Given the description of an element on the screen output the (x, y) to click on. 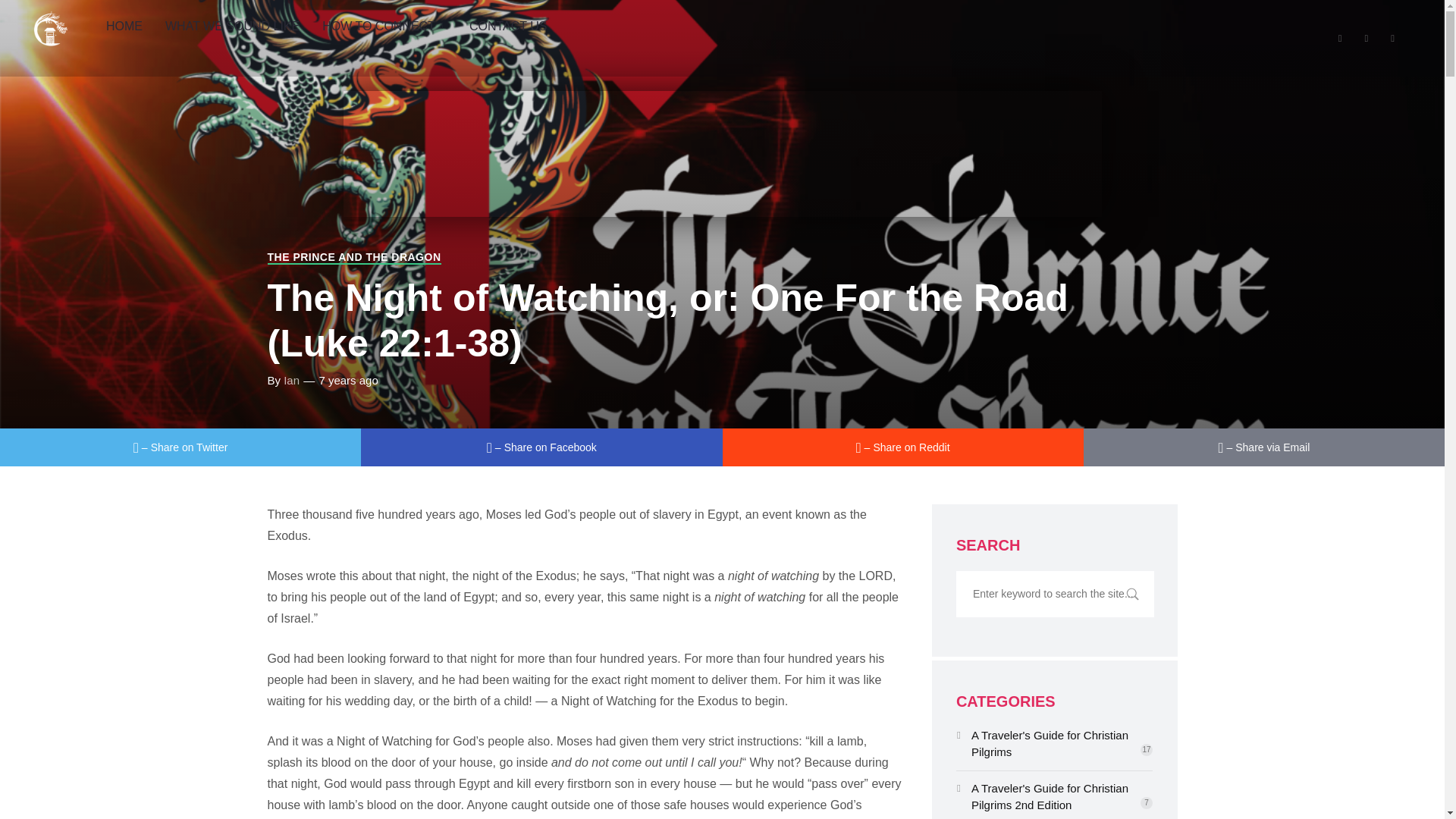
CONTACT US (508, 26)
WHAT WE SOUND LIKE (232, 26)
Ian (291, 379)
Twitter (180, 447)
THE PRINCE AND THE DRAGON (353, 257)
HOME (124, 26)
HOW TO CONNECT (384, 26)
Share on Reddit (902, 447)
Share on Facebook (541, 447)
